Given the description of an element on the screen output the (x, y) to click on. 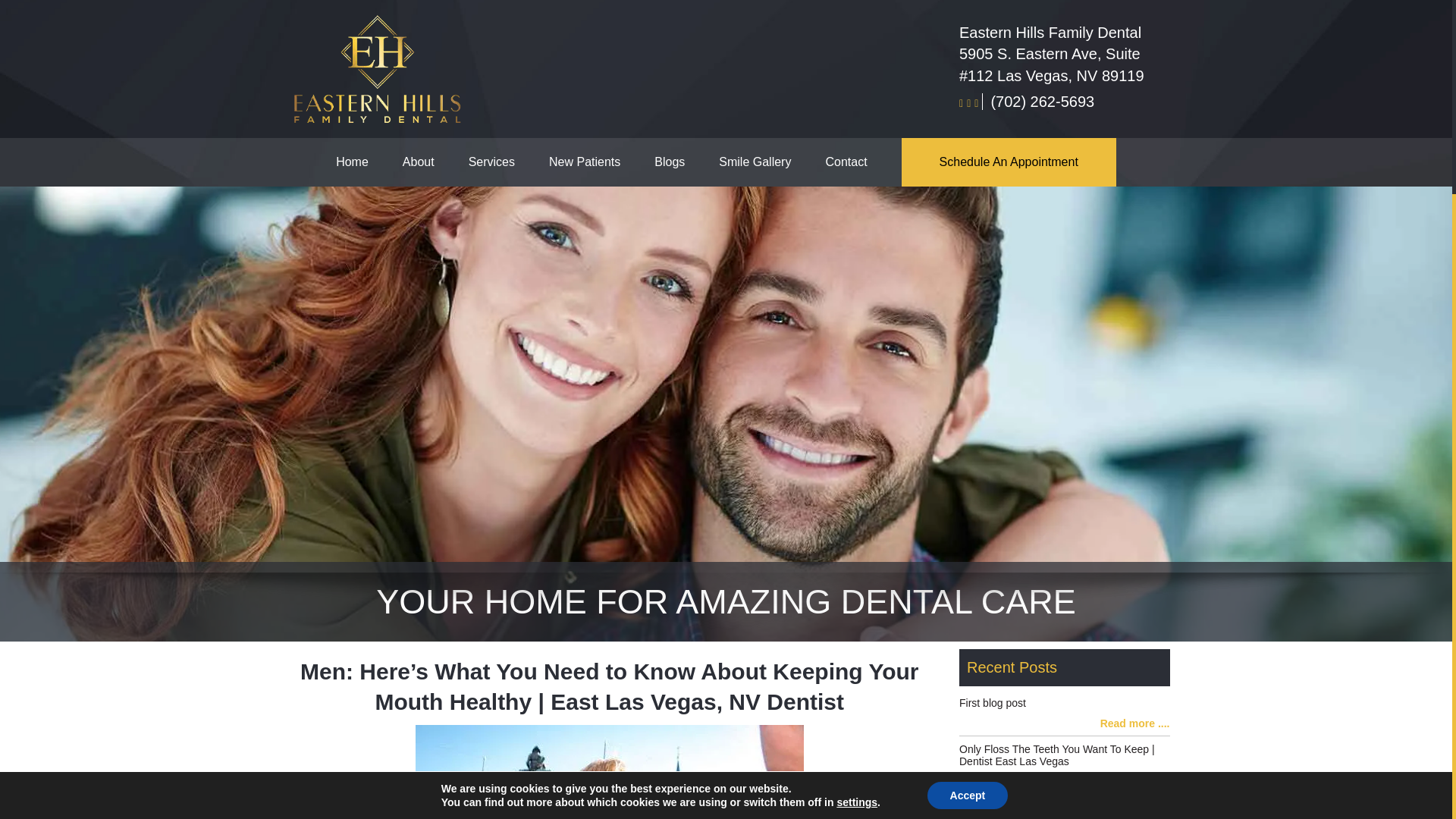
Home (369, 162)
Eastern Hills Family Dental (377, 68)
Smile Gallery (772, 162)
New Patients (600, 162)
Contact (863, 162)
About (435, 162)
Services (508, 162)
Blogs (686, 162)
